Given the description of an element on the screen output the (x, y) to click on. 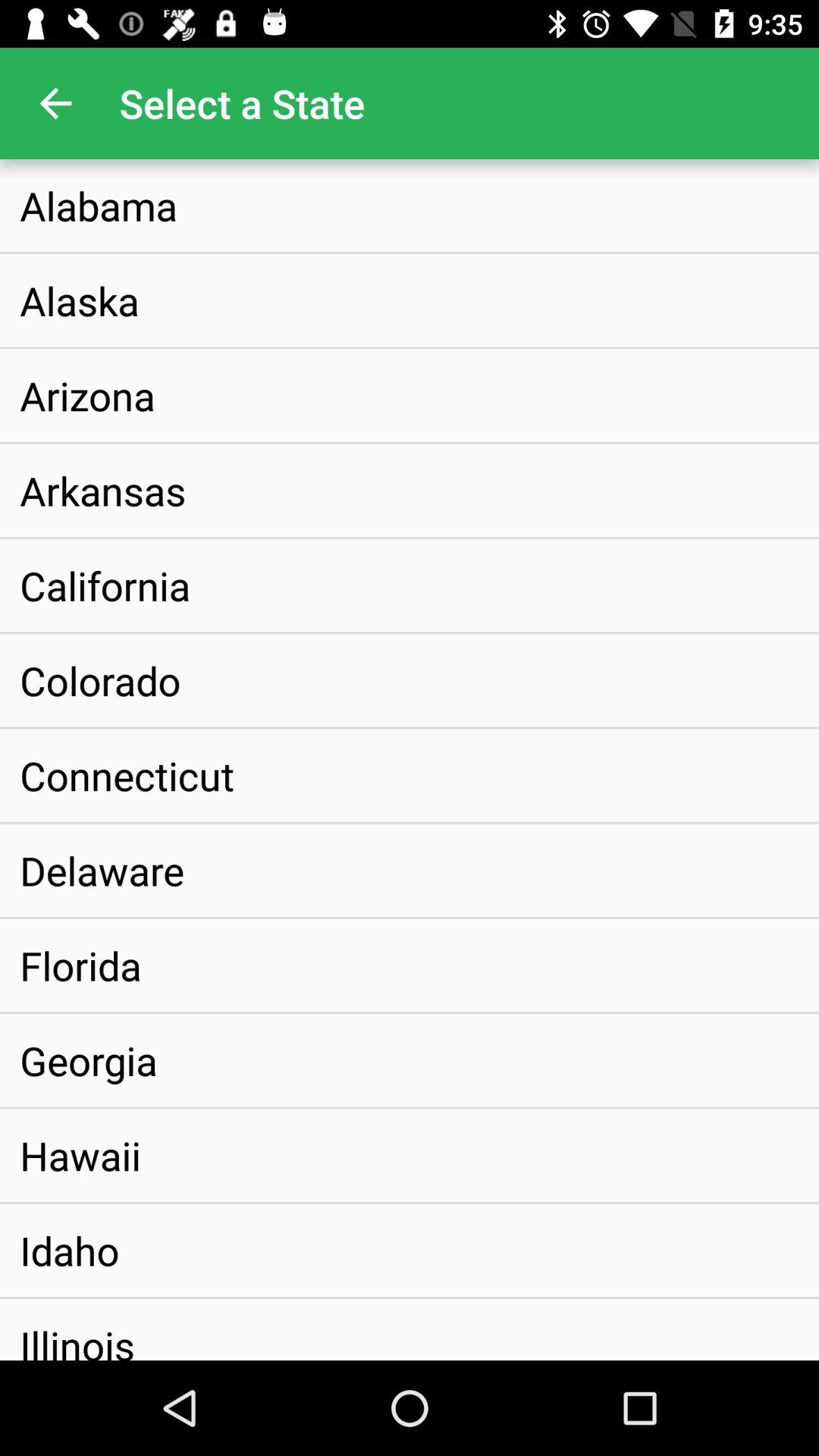
press the item below alaska item (87, 395)
